Given the description of an element on the screen output the (x, y) to click on. 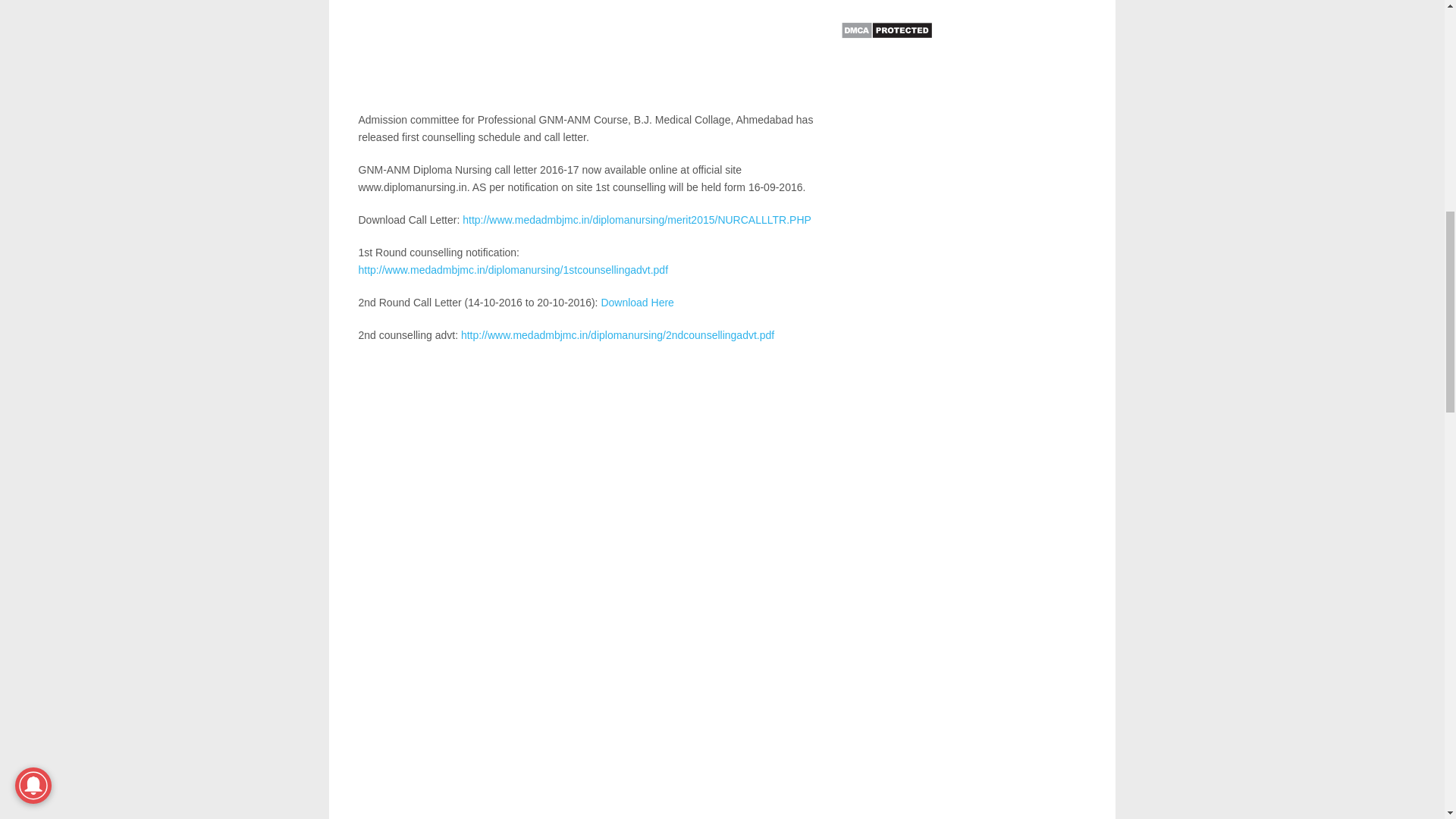
Advertisement (589, 55)
